Given the description of an element on the screen output the (x, y) to click on. 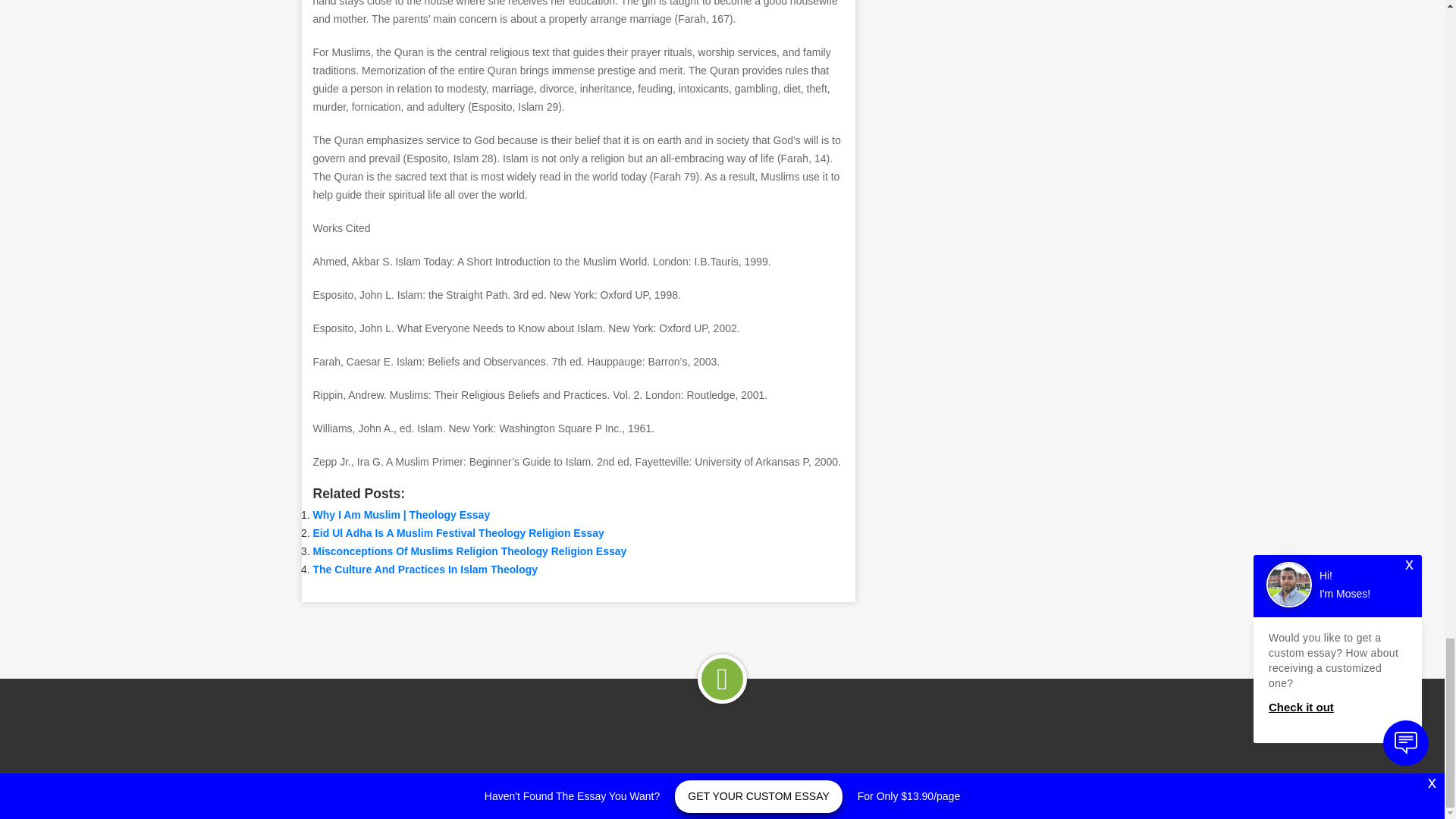
The Culture And Practices In Islam Theology (425, 569)
Eid Ul Adha Is A Muslim Festival Theology Religion Essay (458, 532)
Misconceptions Of Muslims Religion Theology Religion Essay (469, 551)
The Culture And Practices In Islam Theology (425, 569)
Misconceptions Of Muslims Religion Theology Religion Essay (469, 551)
Eid Ul Adha Is A Muslim Festival Theology Religion Essay (458, 532)
